Given the description of an element on the screen output the (x, y) to click on. 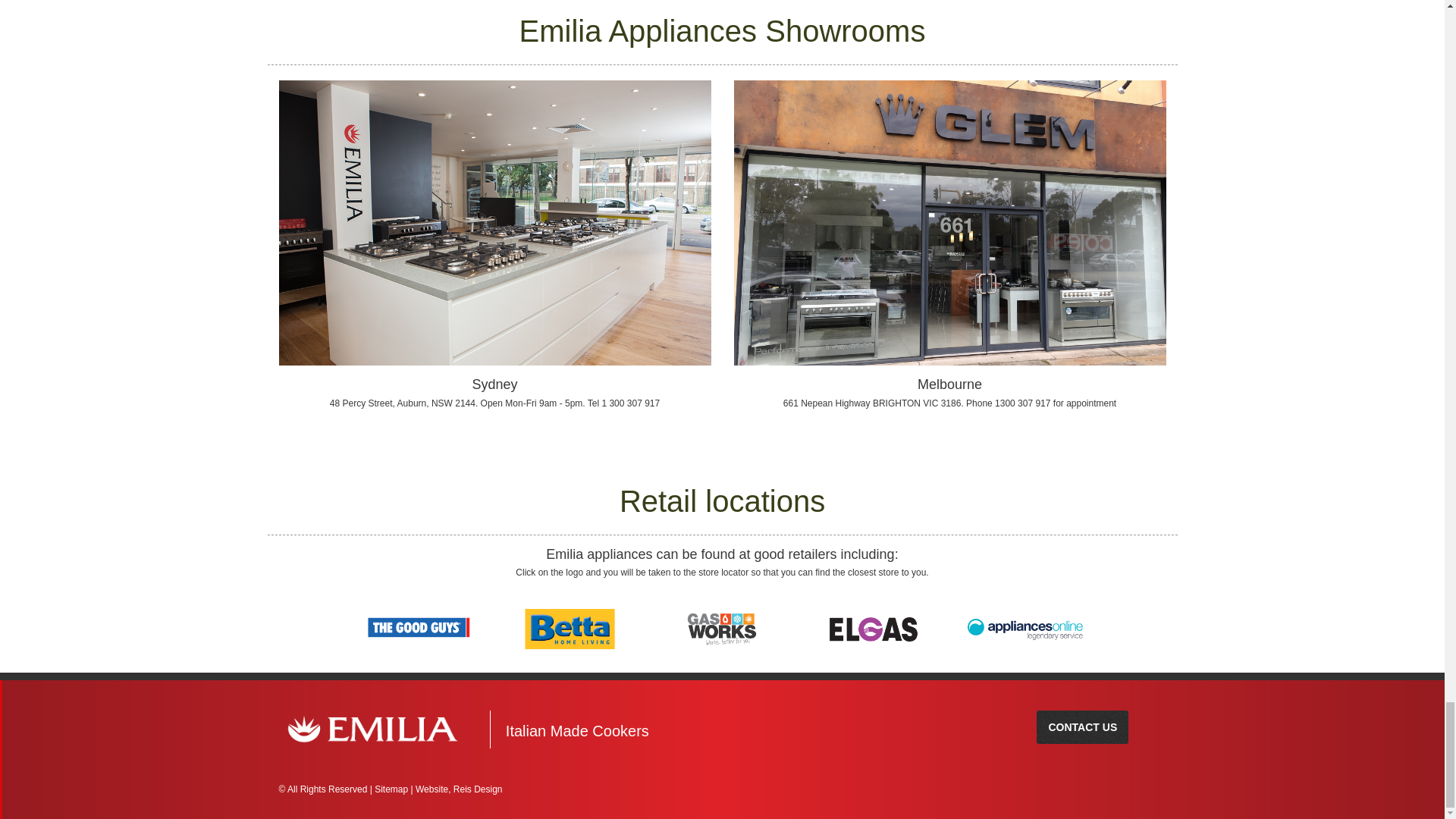
CONTACT US (1082, 726)
Sitemap (392, 788)
